Given the description of an element on the screen output the (x, y) to click on. 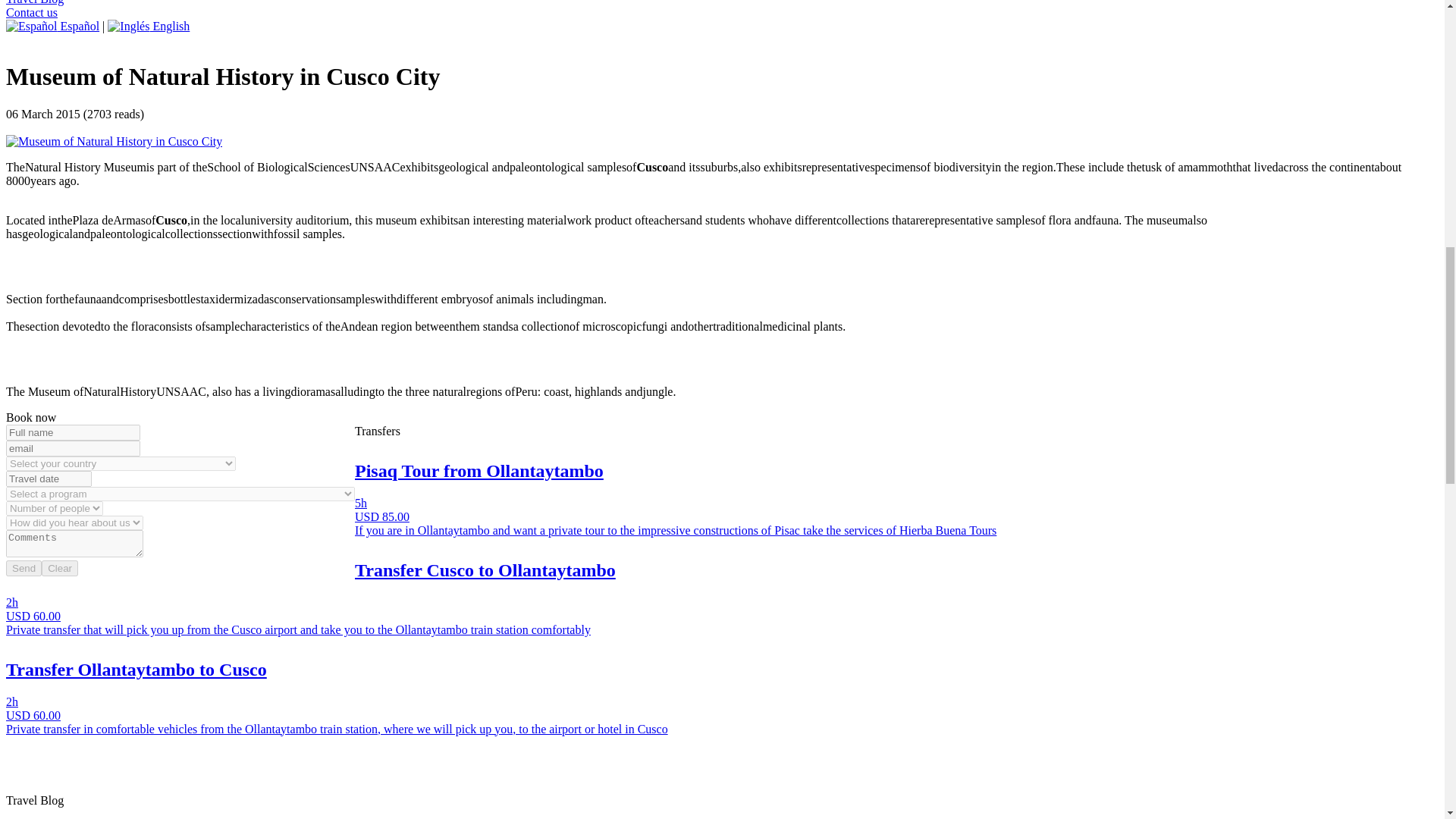
Send (23, 568)
Museum of Natural History in Cusco City (113, 141)
Clear (60, 568)
